Given the description of an element on the screen output the (x, y) to click on. 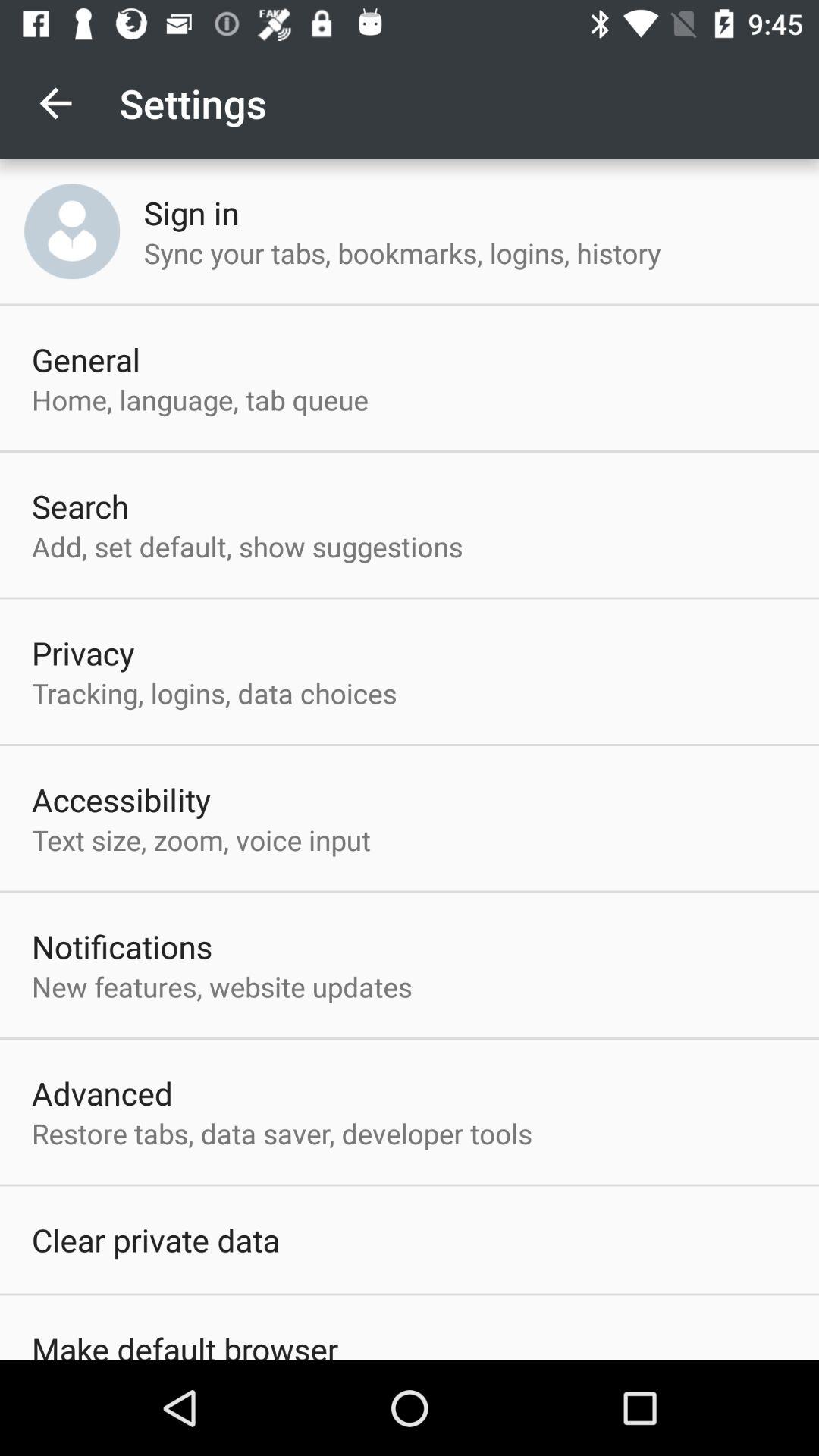
move to icon which is left to sign in (71, 231)
